Given the description of an element on the screen output the (x, y) to click on. 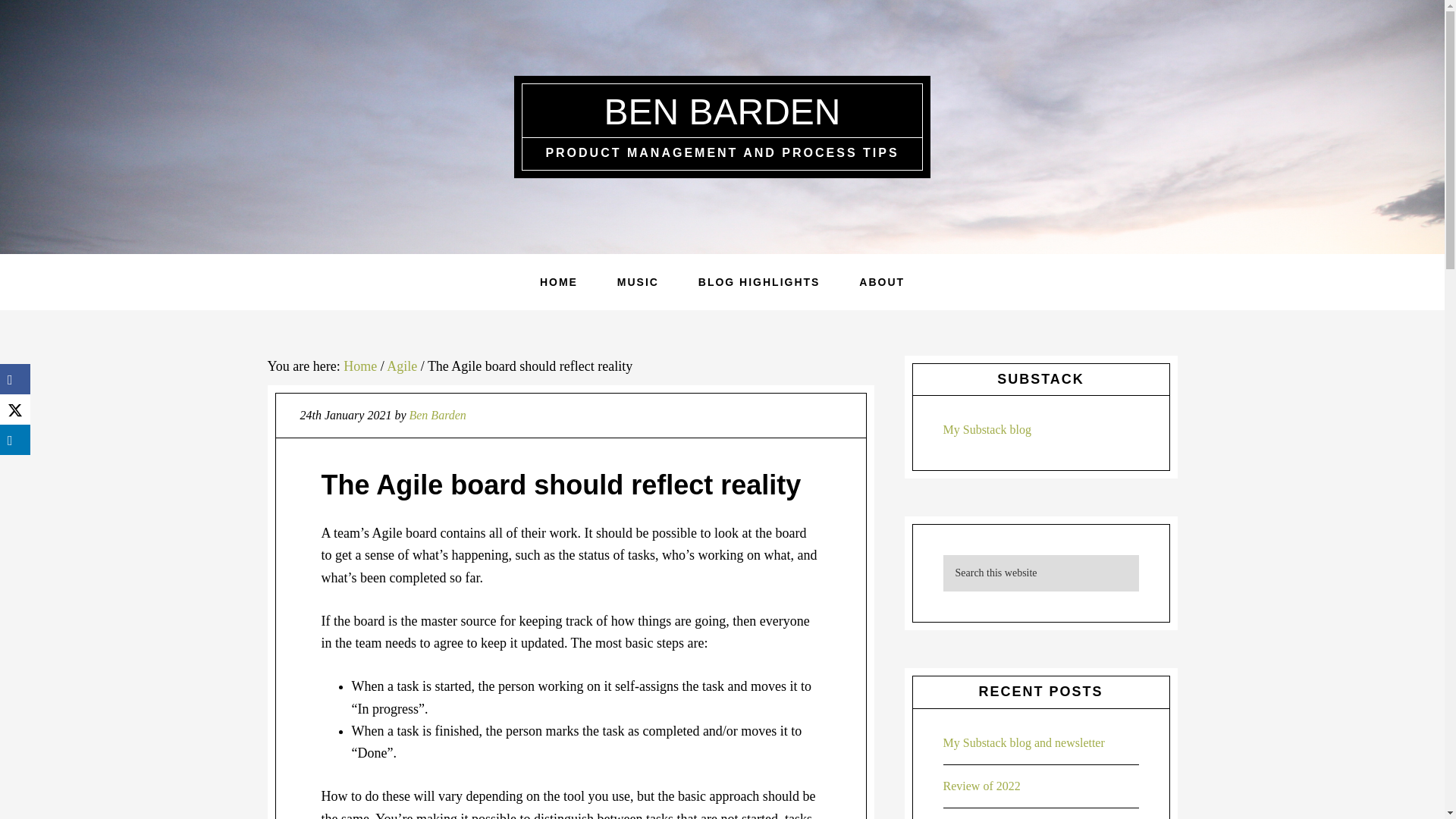
BLOG HIGHLIGHTS (758, 281)
Review of 2022 (981, 785)
My Substack blog (986, 429)
ABOUT (882, 281)
My Substack blog and newsletter (1024, 742)
BEN BARDEN (722, 111)
Home (360, 365)
Agile (401, 365)
MUSIC (637, 281)
HOME (558, 281)
Ben Barden (437, 414)
